Given the description of an element on the screen output the (x, y) to click on. 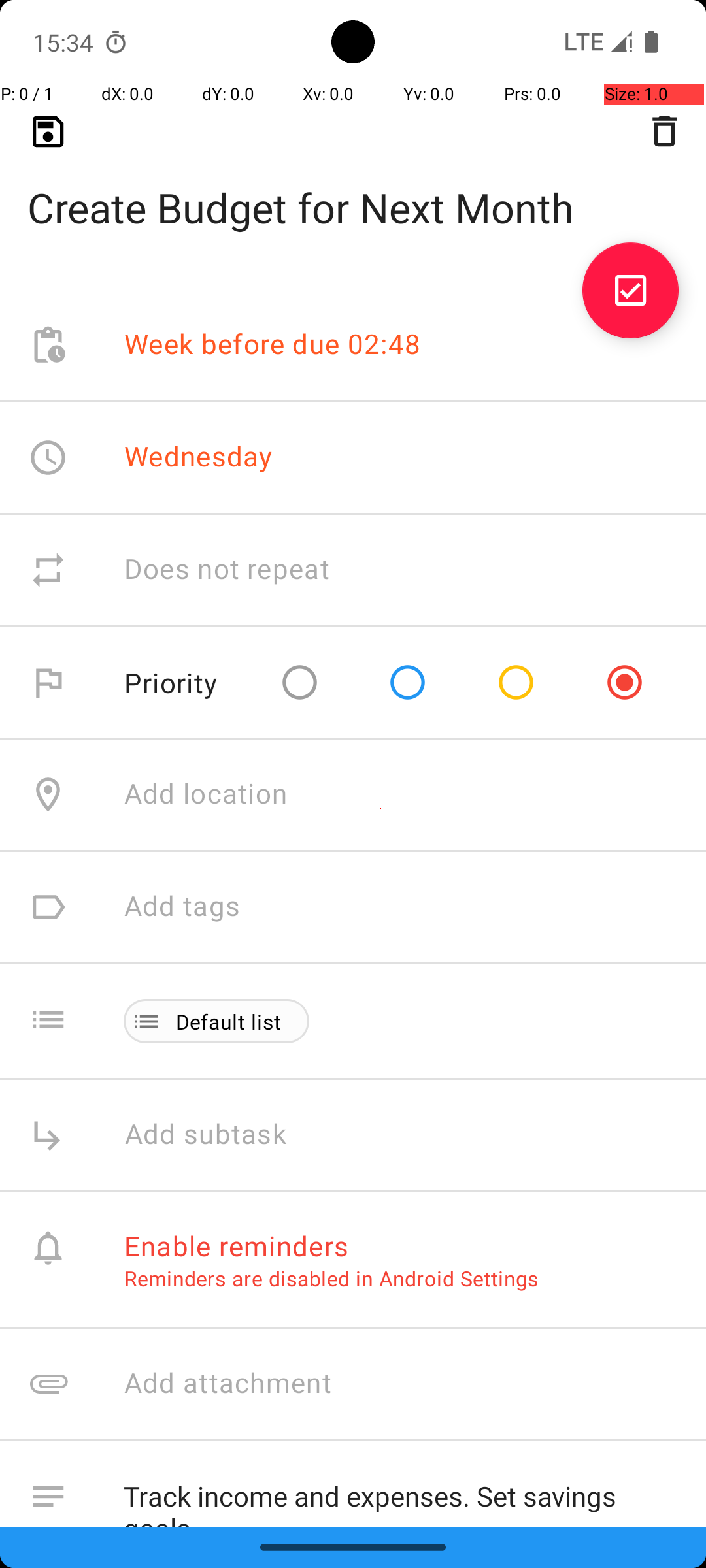
Track income and expenses. Set savings goals. Element type: android.widget.EditText (400, 1493)
Week before due 02:48 Element type: android.widget.TextView (272, 344)
